Given the description of an element on the screen output the (x, y) to click on. 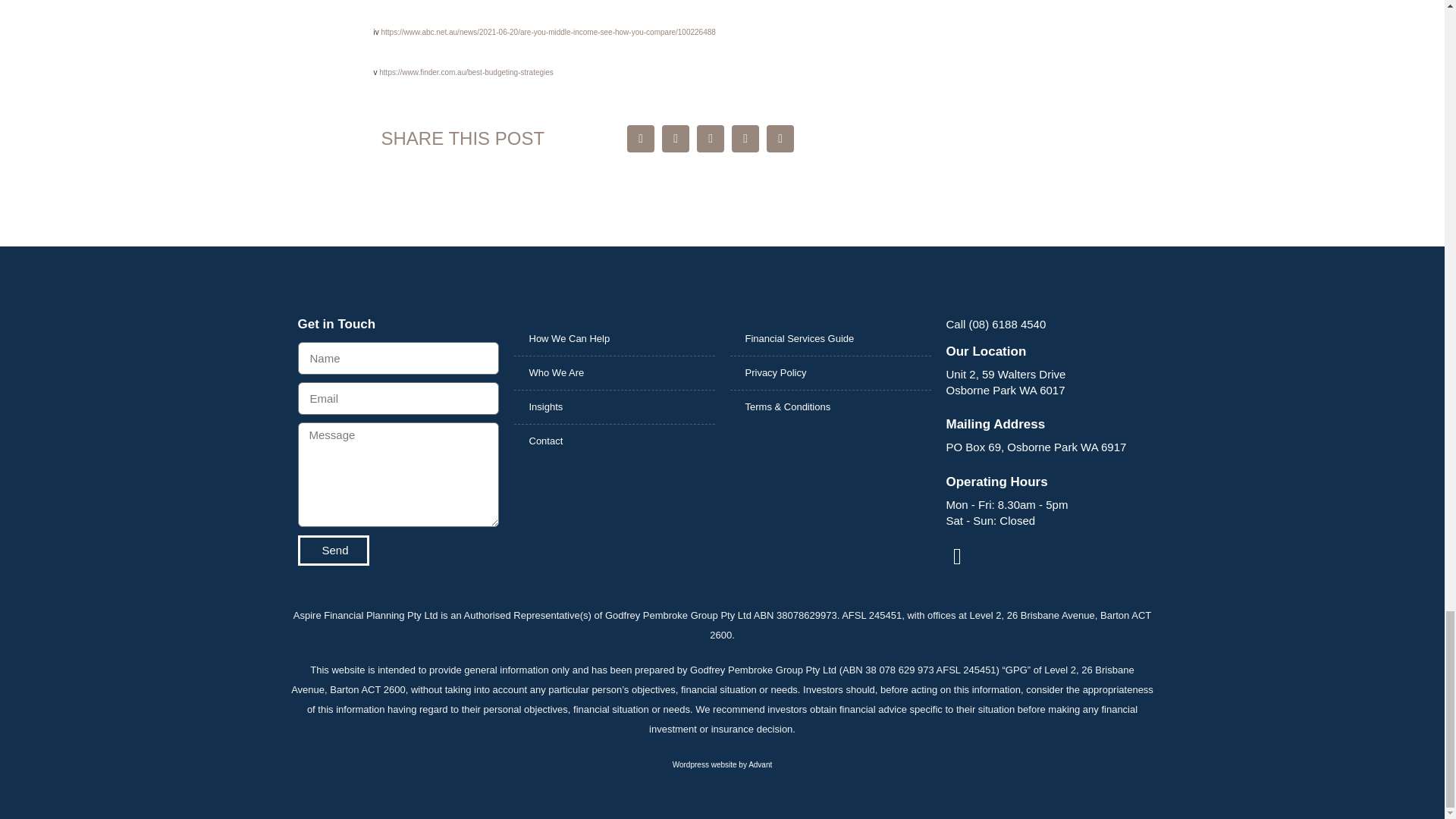
How We Can Help (613, 338)
Send (332, 550)
Who We Are (613, 372)
